Given the description of an element on the screen output the (x, y) to click on. 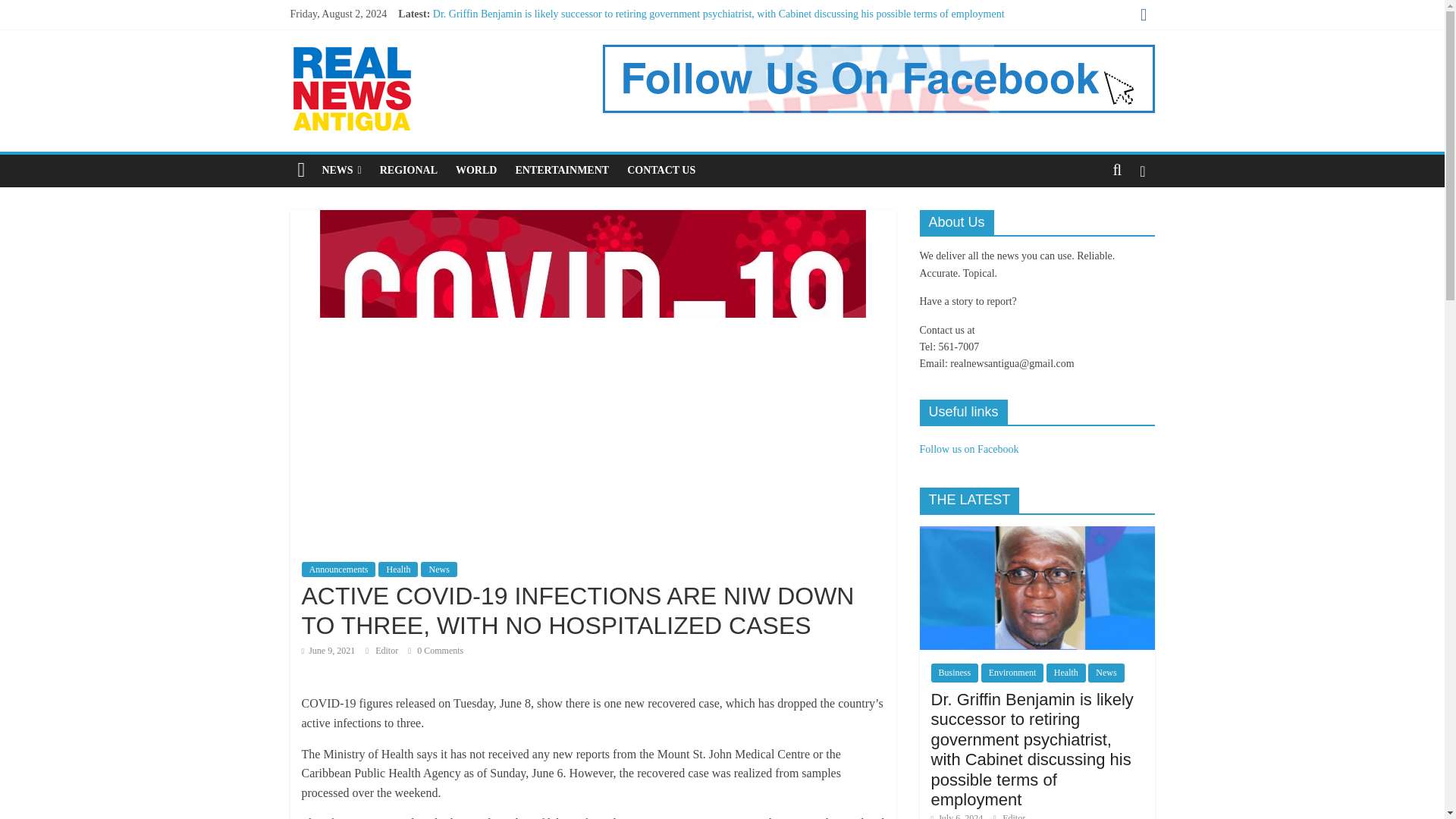
Editor (387, 650)
WORLD (475, 170)
June 9, 2021 (328, 650)
Announcements (338, 569)
Editor (387, 650)
NEWS (341, 170)
Health (397, 569)
9:21 pm (328, 650)
News (438, 569)
